Given the description of an element on the screen output the (x, y) to click on. 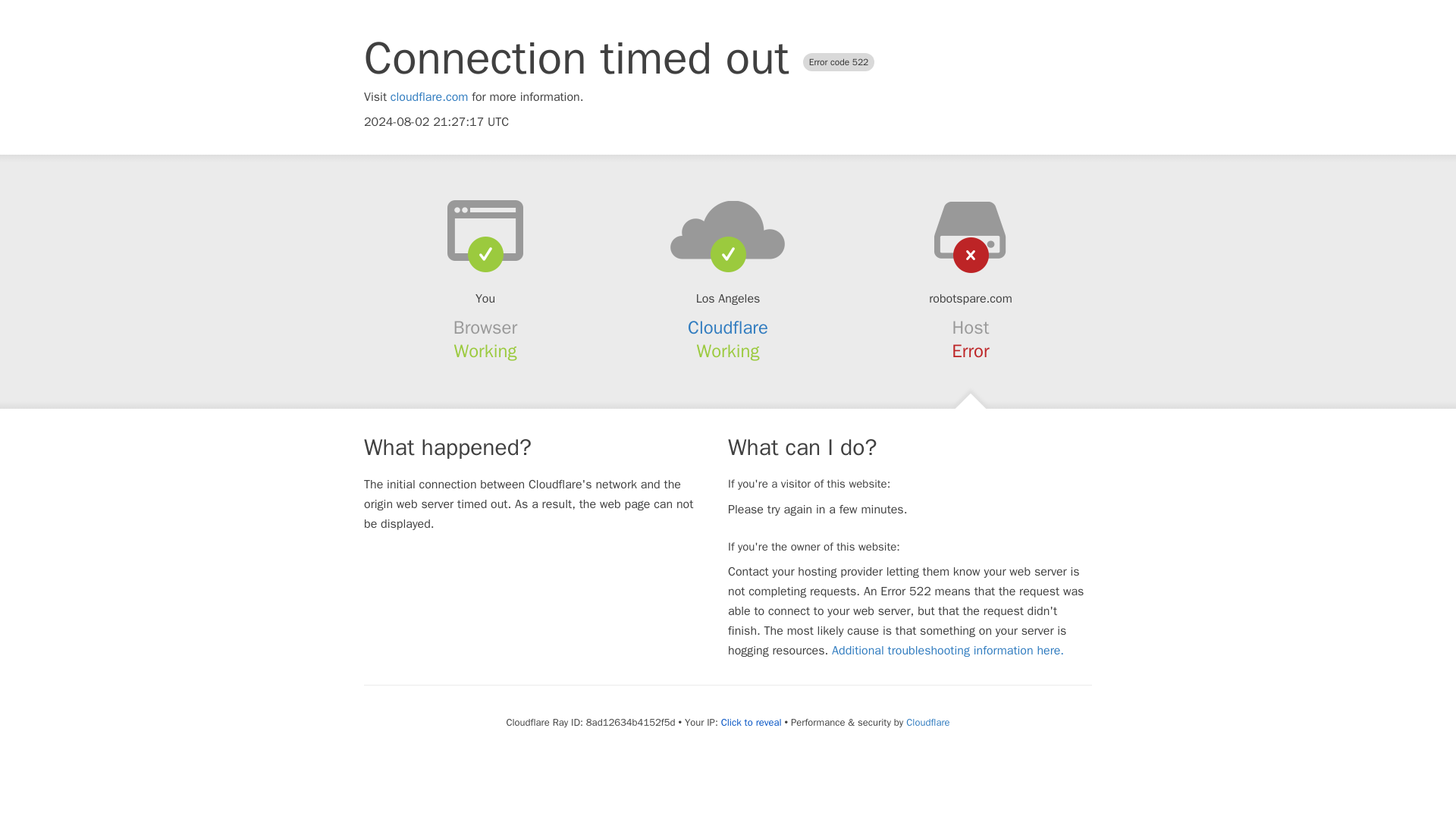
Cloudflare (927, 721)
Additional troubleshooting information here. (947, 650)
Cloudflare (727, 327)
cloudflare.com (429, 96)
Click to reveal (750, 722)
